Given the description of an element on the screen output the (x, y) to click on. 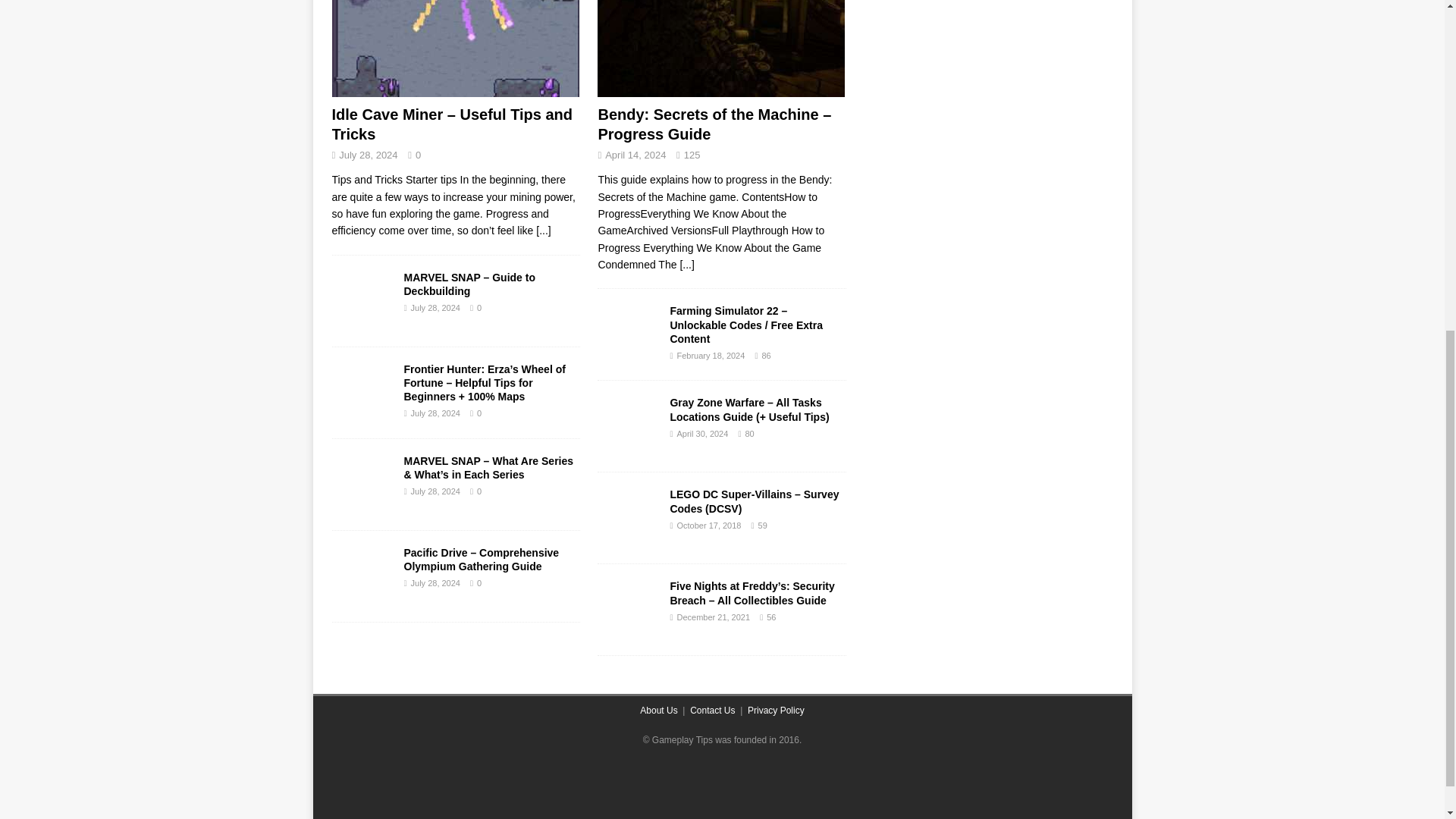
0 (417, 154)
July 28, 2024 (435, 491)
0 (479, 412)
July 28, 2024 (435, 307)
July 28, 2024 (368, 154)
July 28, 2024 (435, 583)
July 28, 2024 (435, 412)
0 (479, 307)
0 (479, 583)
125 (692, 154)
0 (479, 491)
April 14, 2024 (635, 154)
